Given the description of an element on the screen output the (x, y) to click on. 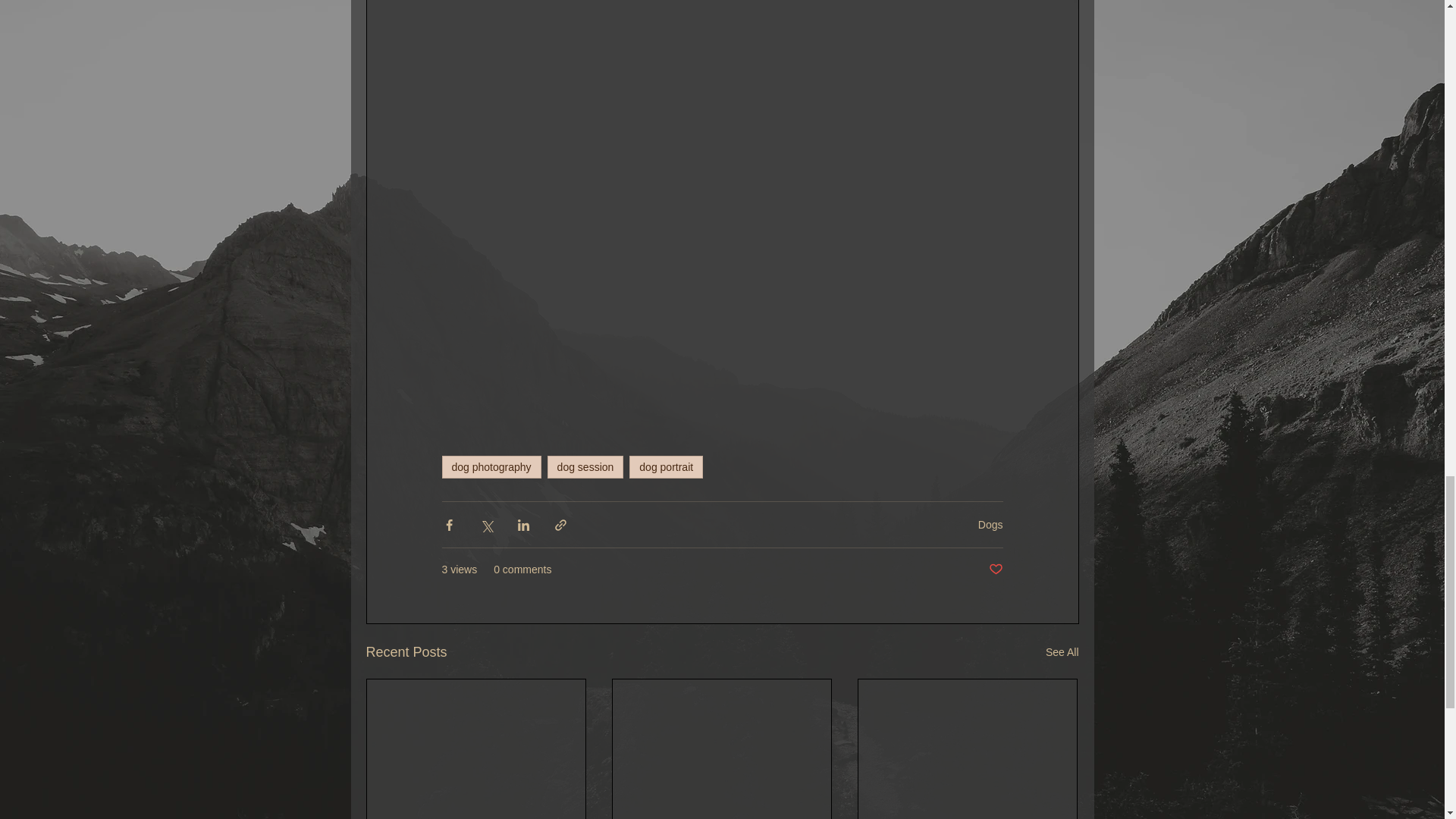
dog photography (490, 466)
dog portrait (665, 466)
Dogs (990, 524)
See All (1061, 652)
dog session (585, 466)
Post not marked as liked (995, 569)
